Given the description of an element on the screen output the (x, y) to click on. 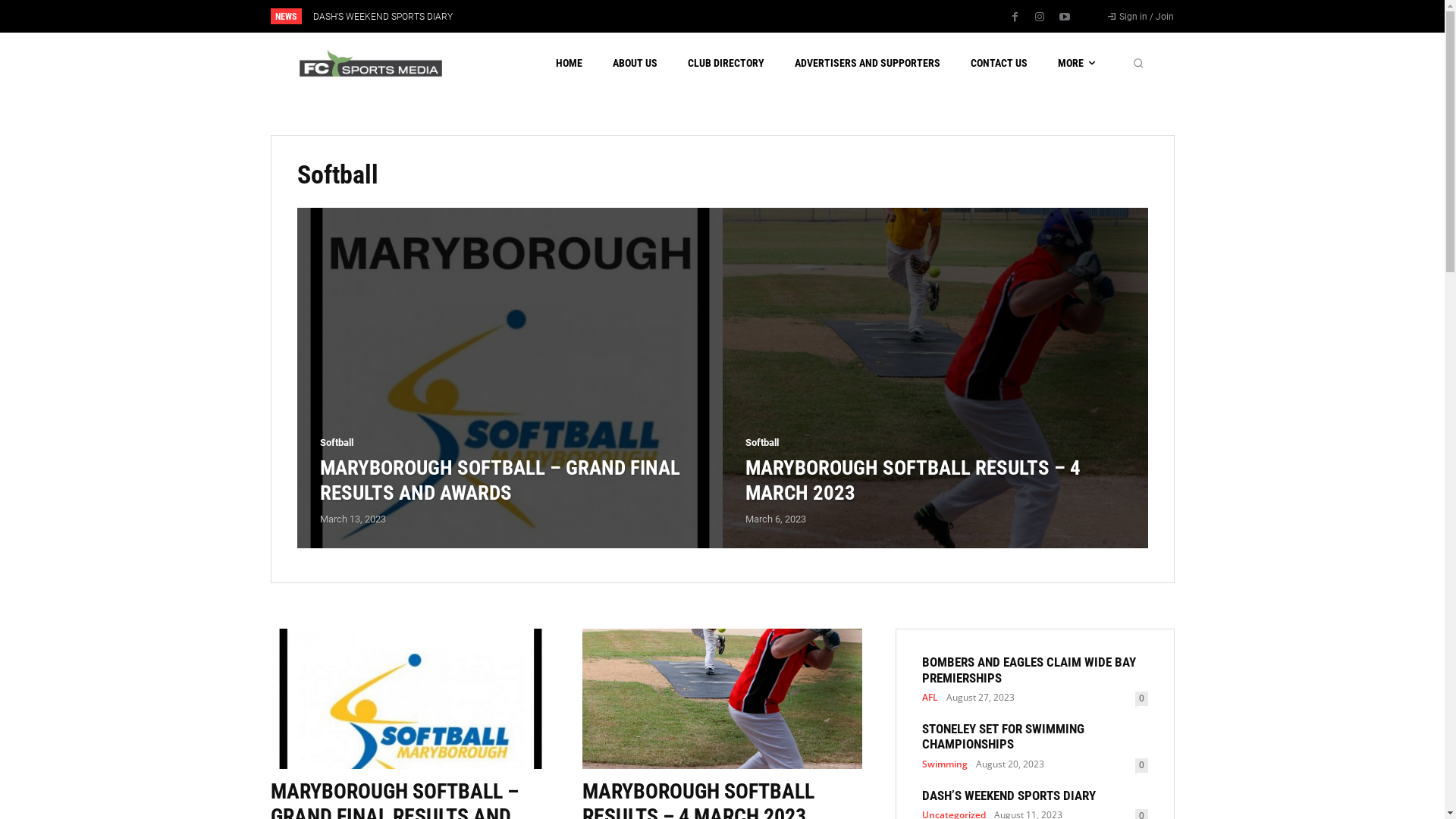
HOME Element type: text (568, 62)
STONELEY SET FOR SWIMMING CHAMPIONSHIPS Element type: text (1003, 736)
Youtube Element type: hover (1064, 16)
Softball Element type: text (761, 442)
Softball Element type: text (336, 442)
CONTACT US Element type: text (998, 62)
ADVERTISERS AND SUPPORTERS Element type: text (867, 62)
Facebook Element type: hover (1014, 16)
ABOUT US Element type: text (634, 62)
CLUB DIRECTORY Element type: text (725, 62)
Instagram Element type: hover (1039, 16)
BOMBERS AND EAGLES CLAIM WIDE BAY PREMIERSHIPS Element type: text (1028, 669)
Sign in / Join Element type: text (1140, 16)
0 Element type: text (1140, 698)
AFL Element type: text (930, 697)
Swimming Element type: text (944, 763)
0 Element type: text (1140, 765)
Fraser Coast Sports Media Element type: hover (370, 62)
